Given the description of an element on the screen output the (x, y) to click on. 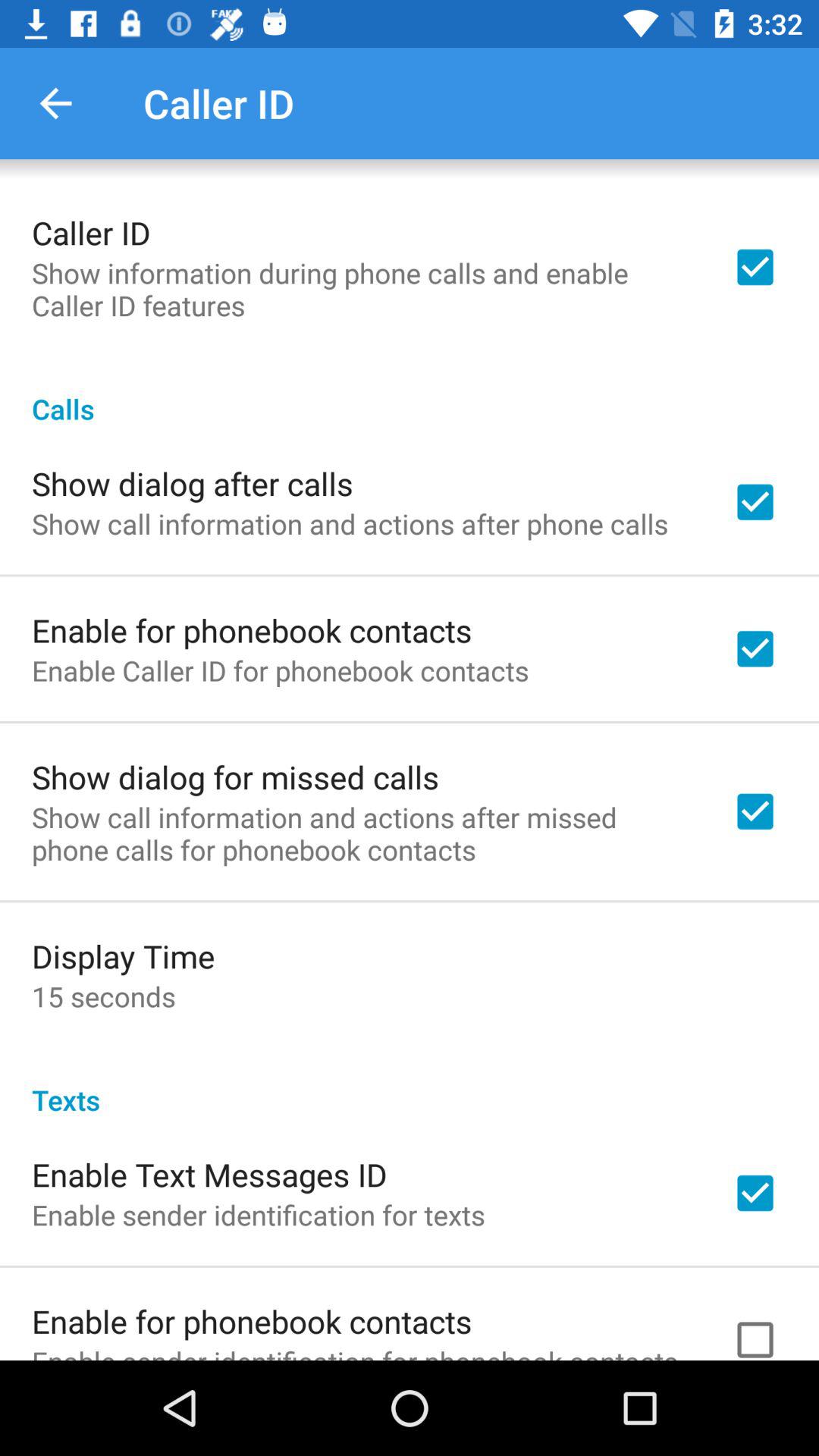
click icon above 15 seconds icon (122, 955)
